Given the description of an element on the screen output the (x, y) to click on. 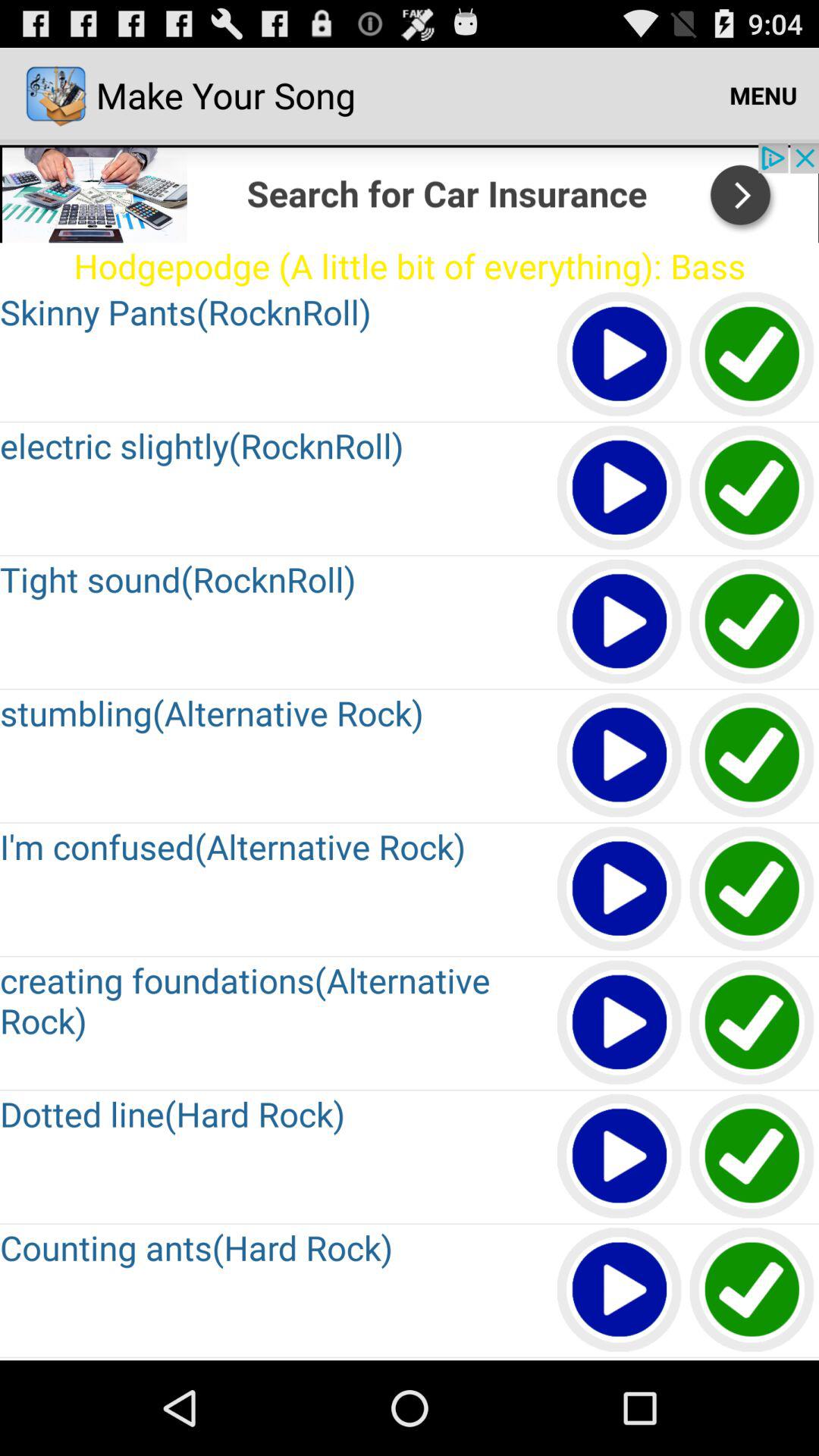
click on play option (619, 1290)
